Given the description of an element on the screen output the (x, y) to click on. 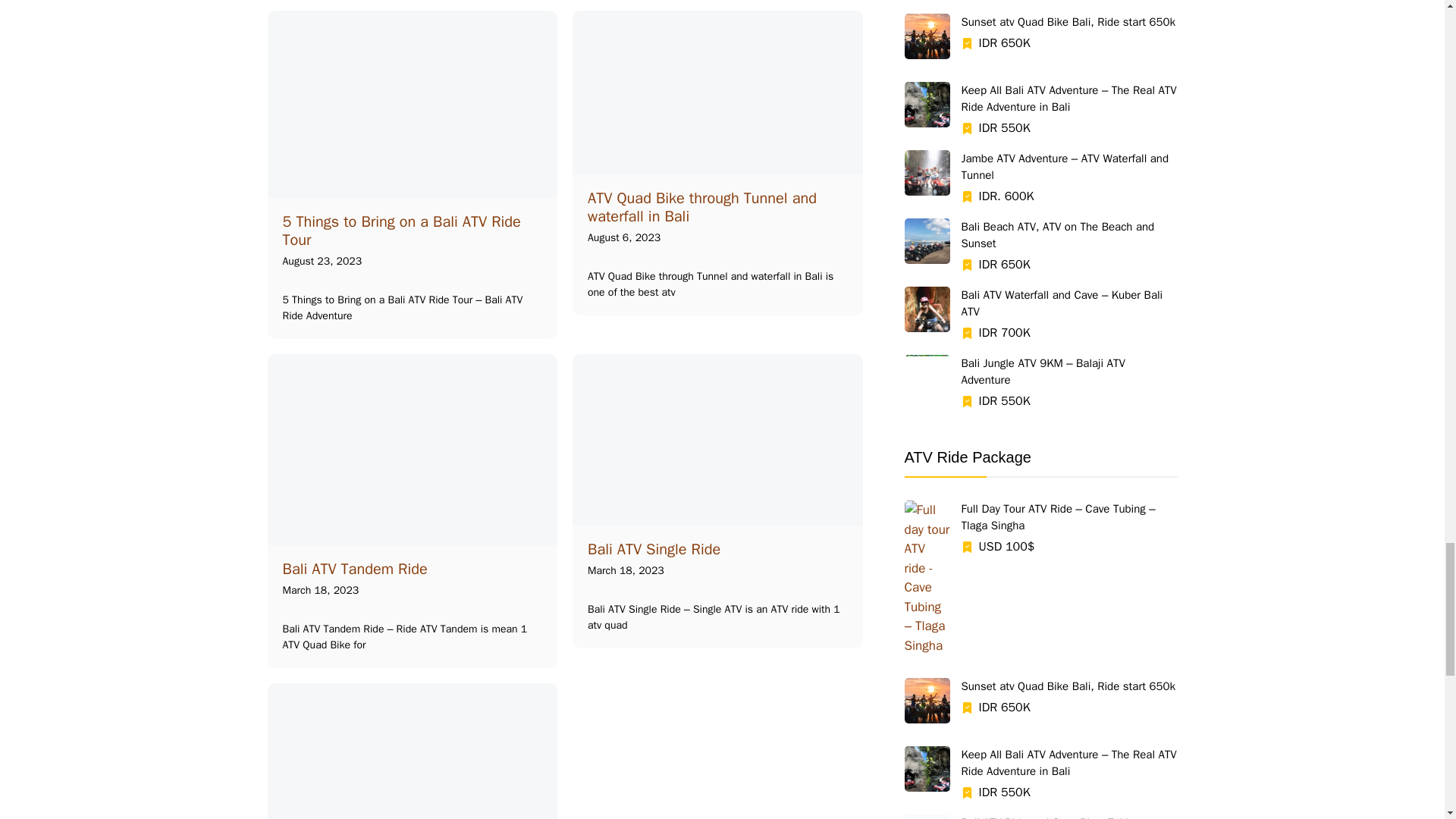
ATV Quad Bike through Tunnel and waterfall in Bali (702, 206)
Bali ATV Single Ride (654, 548)
Bali ATV Tandem Ride (354, 568)
5 Things to Bring on a Bali ATV Ride Tour (400, 230)
